Given the description of an element on the screen output the (x, y) to click on. 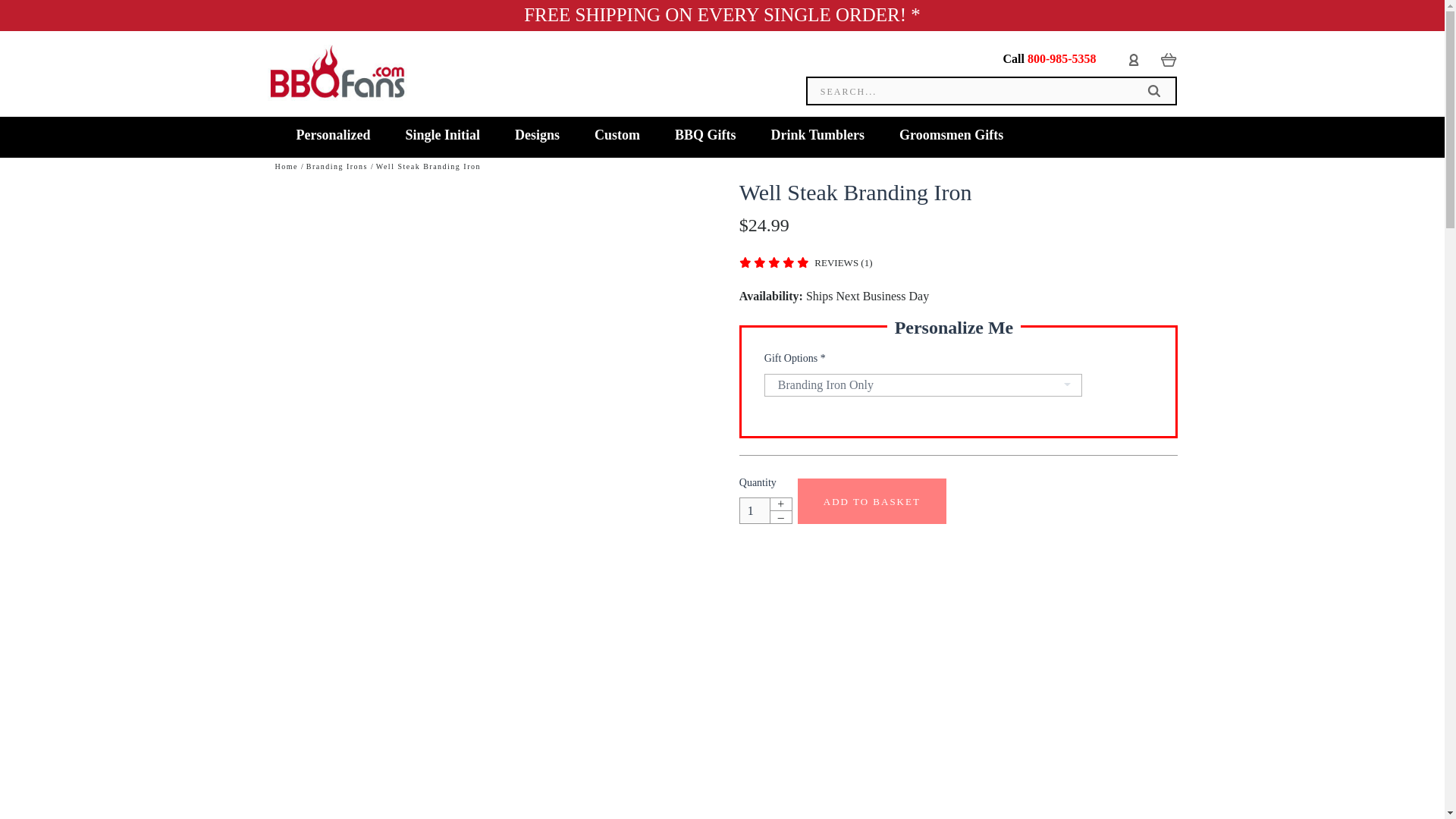
1 (754, 510)
Personalized (333, 136)
Single Initial (442, 136)
800-985-5358 (1061, 58)
Designs (536, 136)
